Given the description of an element on the screen output the (x, y) to click on. 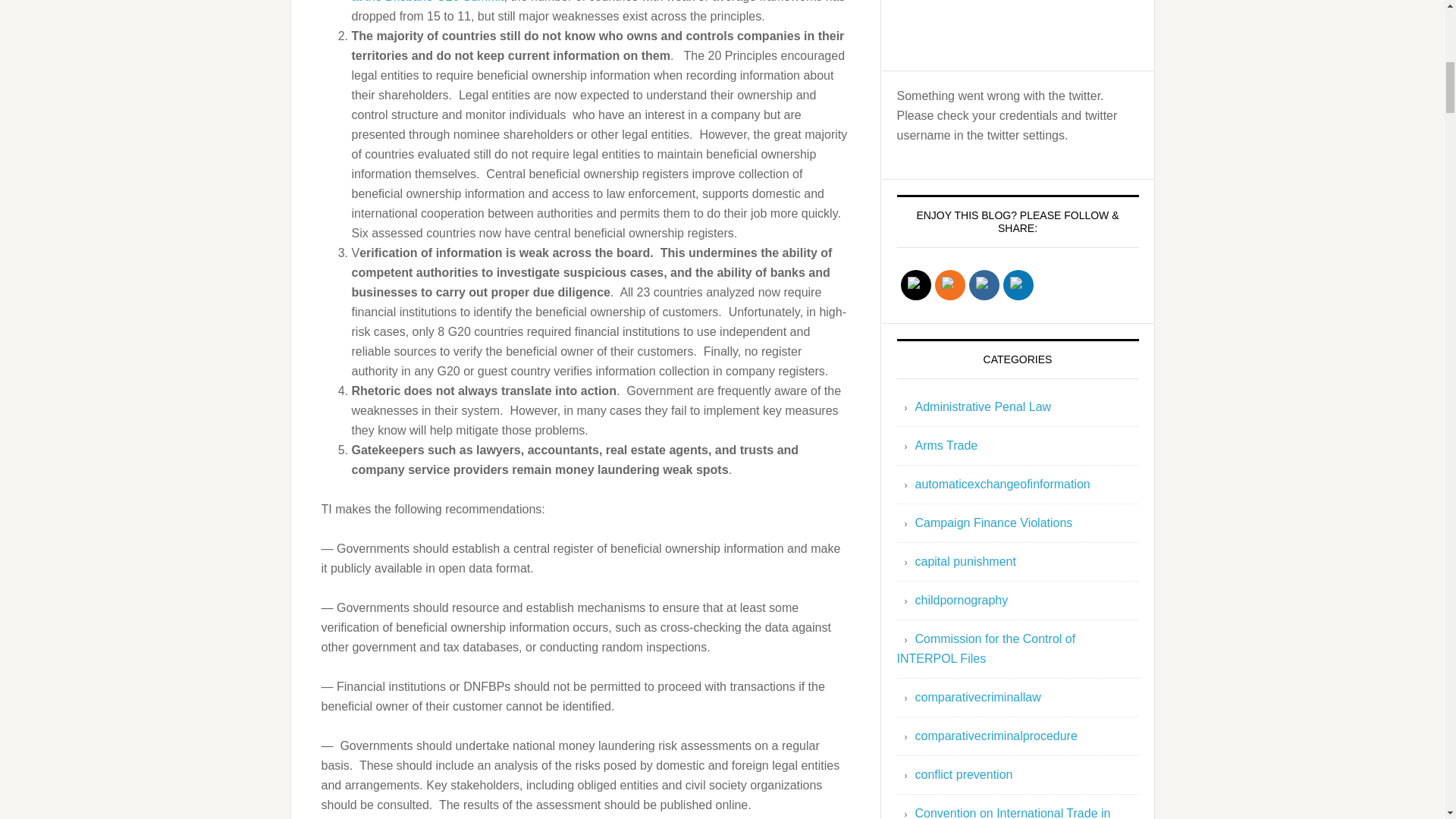
RSS (950, 284)
LinkedIn (1018, 284)
Facebook (983, 284)
Twitter (915, 284)
